Given the description of an element on the screen output the (x, y) to click on. 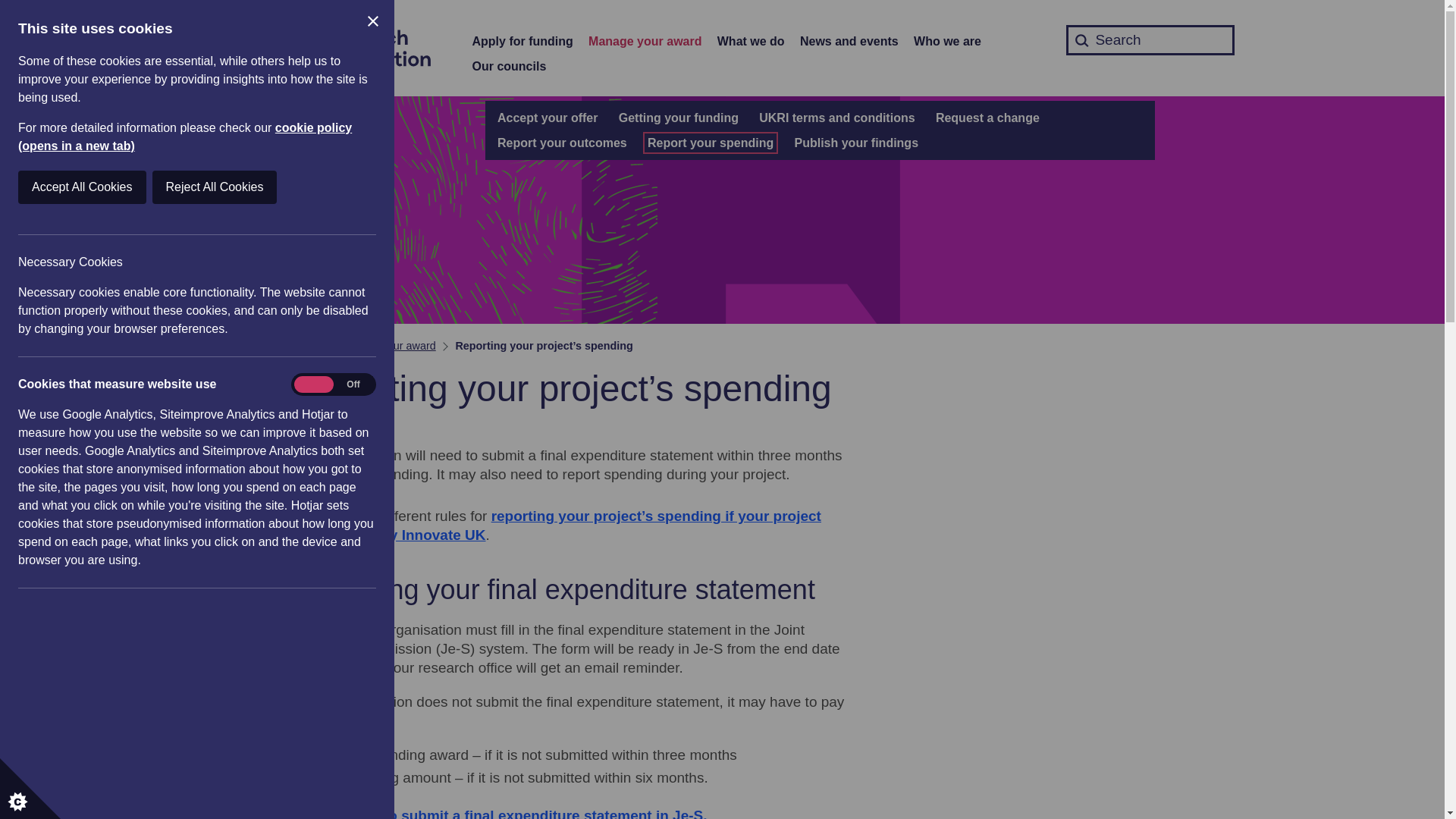
Report your outcomes (562, 142)
UKRI terms and conditions (836, 117)
Reject All Cookies (97, 186)
Skip to main content (11, 7)
Getting your funding (678, 117)
Our councils (508, 66)
What we do (750, 41)
News and events (848, 41)
on (333, 384)
Who we are (947, 41)
Apply for funding (521, 41)
Manage your award (644, 41)
Report your spending (710, 142)
Request a change (987, 117)
Accept your offer (547, 117)
